Given the description of an element on the screen output the (x, y) to click on. 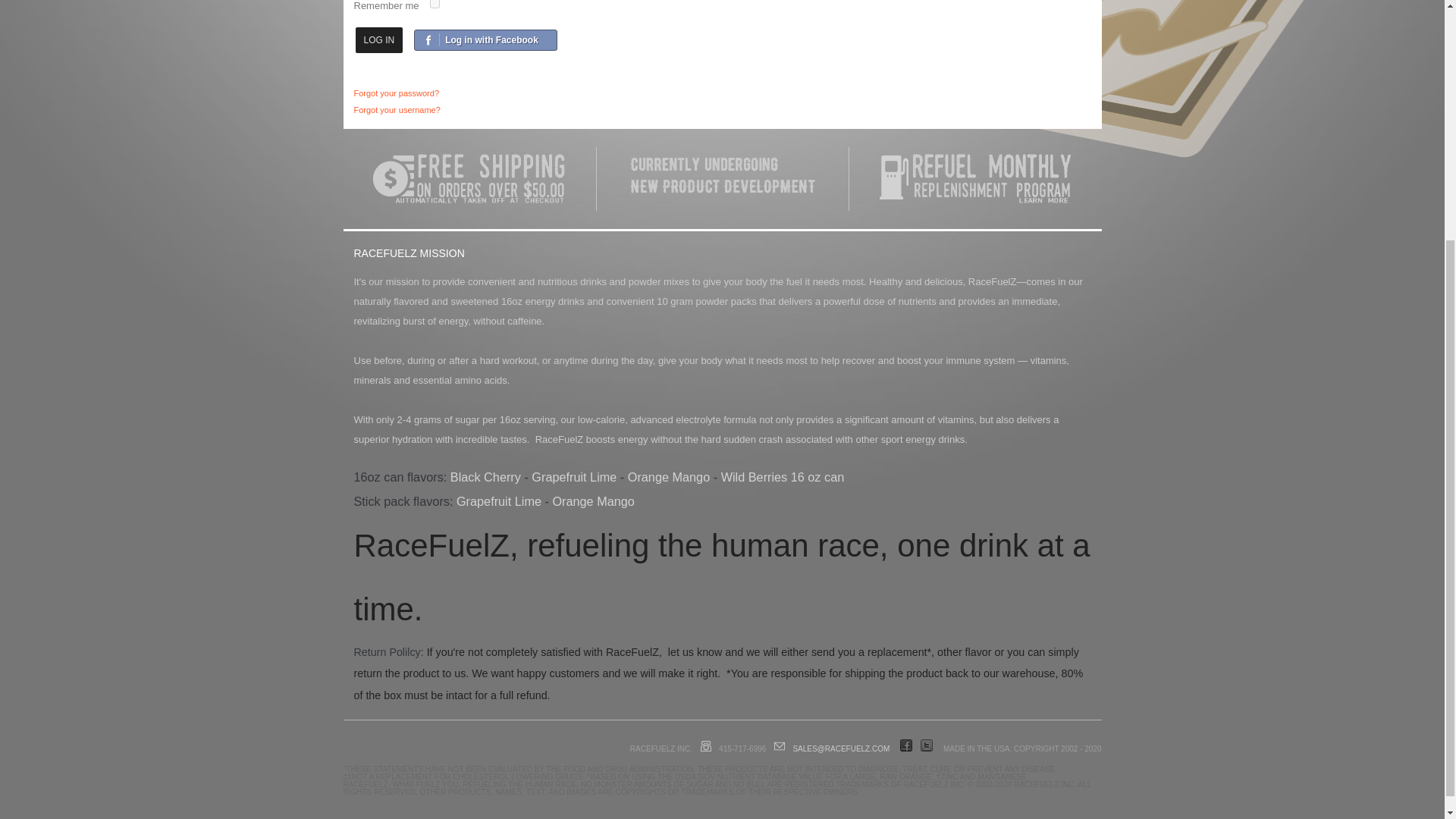
Forgot your password? (396, 92)
Black Cherry (485, 476)
Grapefruit Lime 10 Packs Powder Mixes (499, 500)
yes (434, 4)
LOG IN (379, 40)
Grapefruit Lime (573, 476)
Orange Mango (592, 500)
RaceFuelZ Grapefruit Lime 16oz can (573, 476)
Orange Mango (668, 476)
Grapefruit Lime (499, 500)
Forgot your username? (396, 109)
RaceFuelZ Black Cherry 16oz can (485, 476)
RaceFuelZ Wild Berries 16oz can (782, 476)
Orange Mango 10 Pack Powder Mixes (592, 500)
Wild Berries 16 oz can (782, 476)
